Given the description of an element on the screen output the (x, y) to click on. 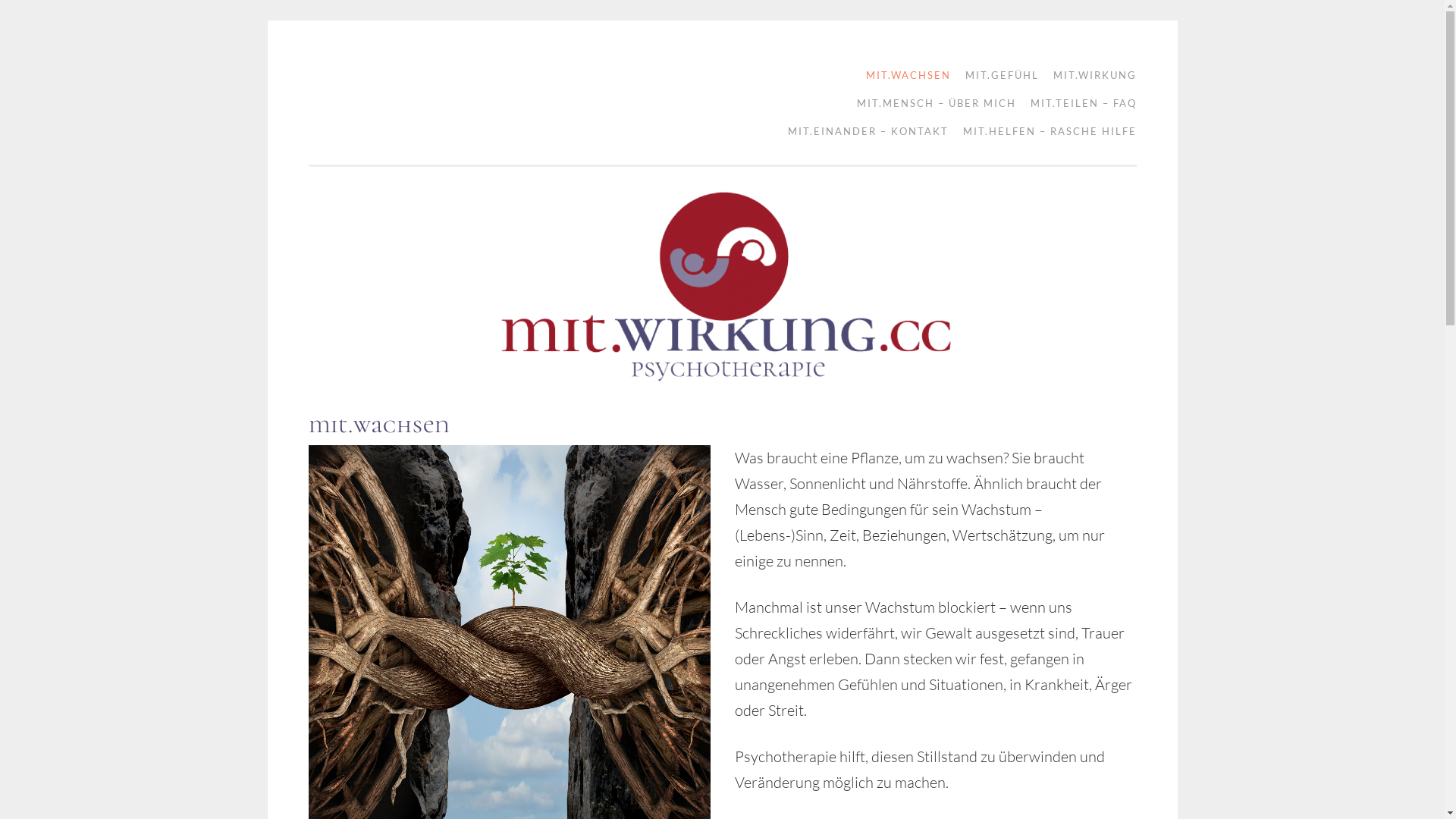
MIT.WIRKUNG Element type: text (1088, 75)
MIT.WACHSEN Element type: text (902, 75)
Springe zum Inhalt Element type: text (355, 71)
mit.wirkung.cc | psychotherapie Element type: text (396, 93)
